Given the description of an element on the screen output the (x, y) to click on. 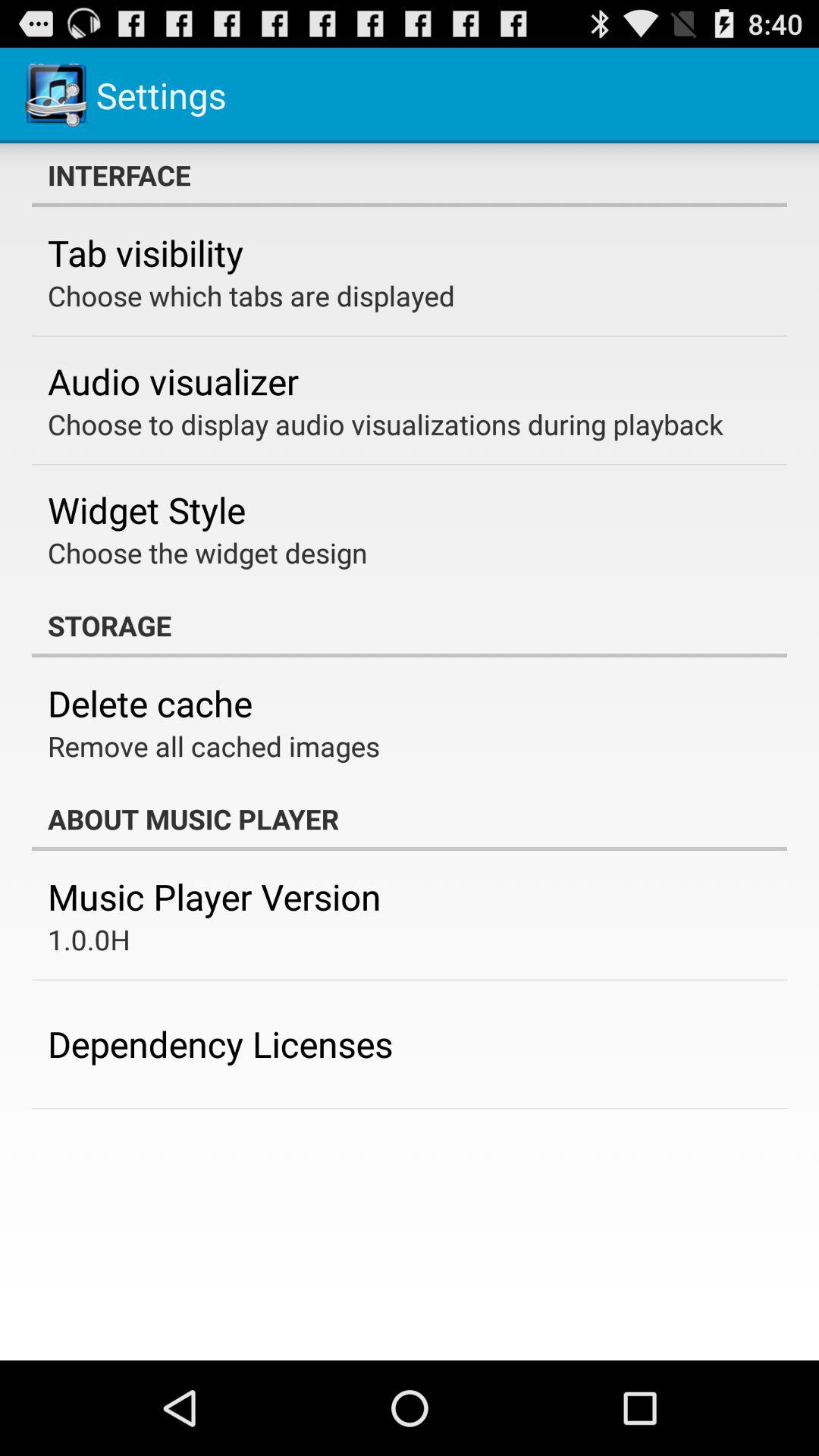
jump until choose which tabs (251, 295)
